Given the description of an element on the screen output the (x, y) to click on. 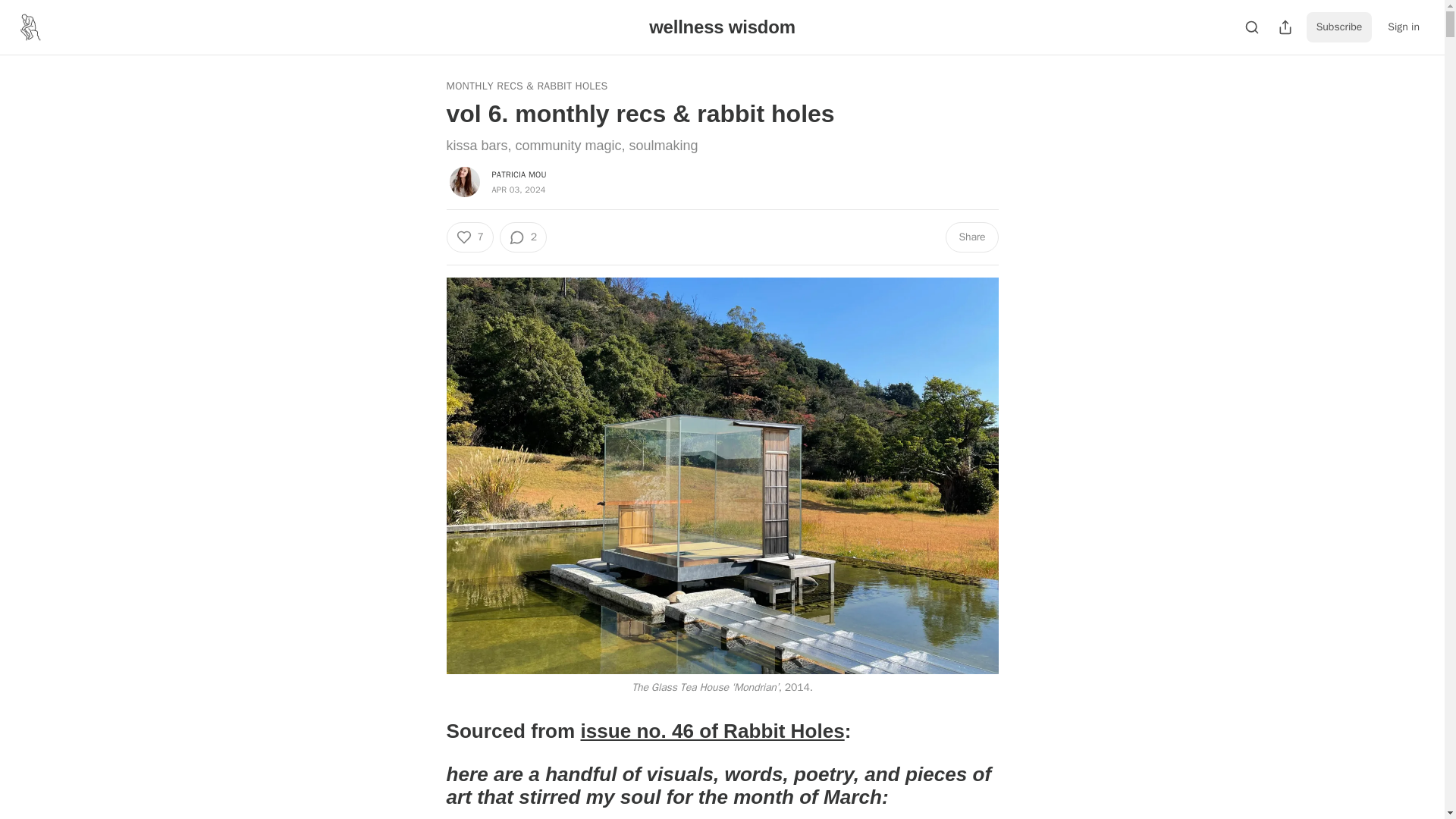
Share (970, 236)
wellness wisdom (721, 26)
Sign in (1403, 27)
Subscribe (1339, 27)
2 (523, 236)
PATRICIA MOU (519, 173)
issue no. 46 of Rabbit Holes (712, 730)
7 (469, 236)
